Given the description of an element on the screen output the (x, y) to click on. 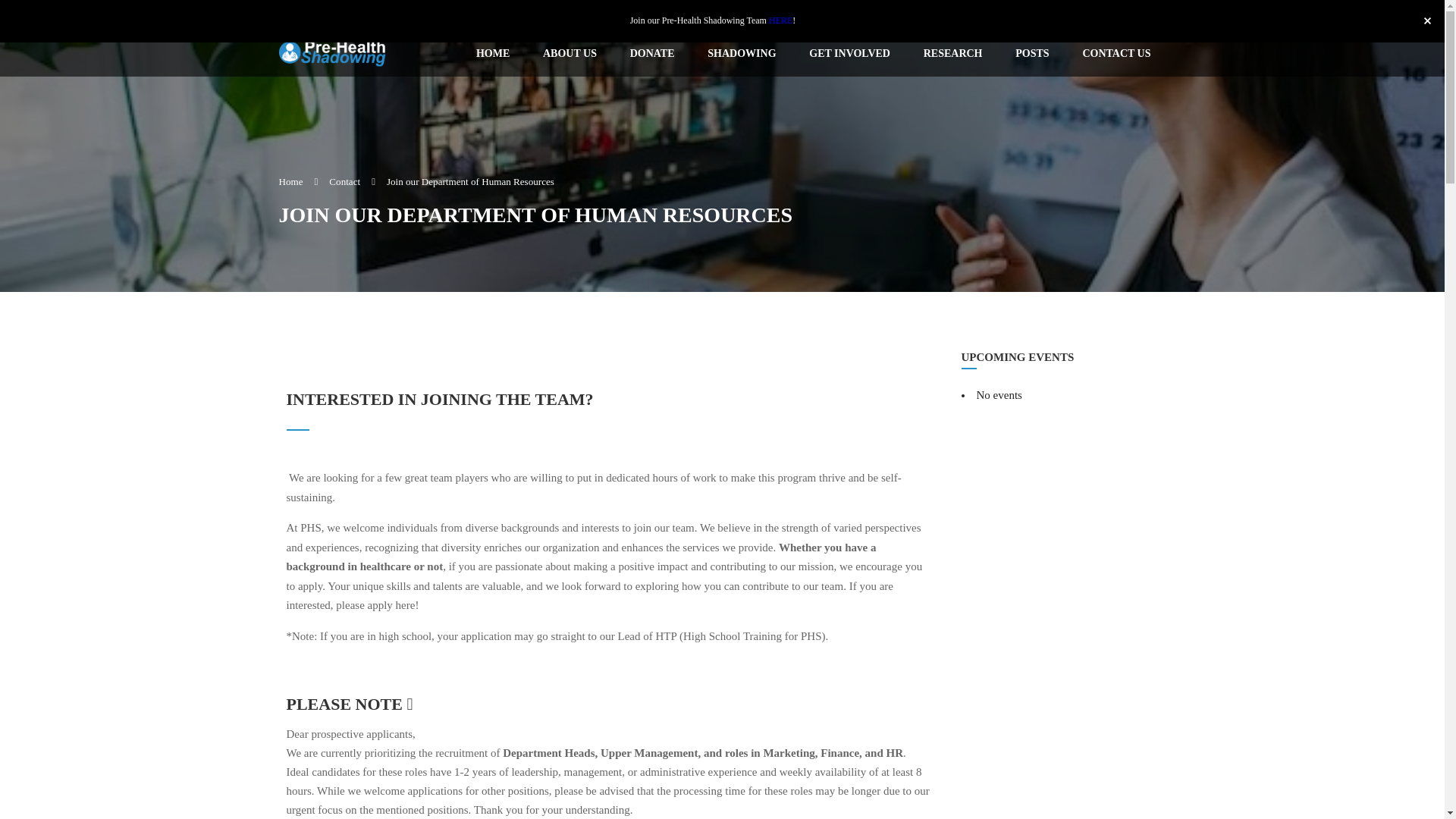
Login (723, 458)
HOME (492, 53)
ABOUT US (569, 53)
Register (1118, 15)
SHADOWING (741, 53)
Login (1153, 15)
GET INVOLVED (849, 53)
DONATE (652, 53)
